Given the description of an element on the screen output the (x, y) to click on. 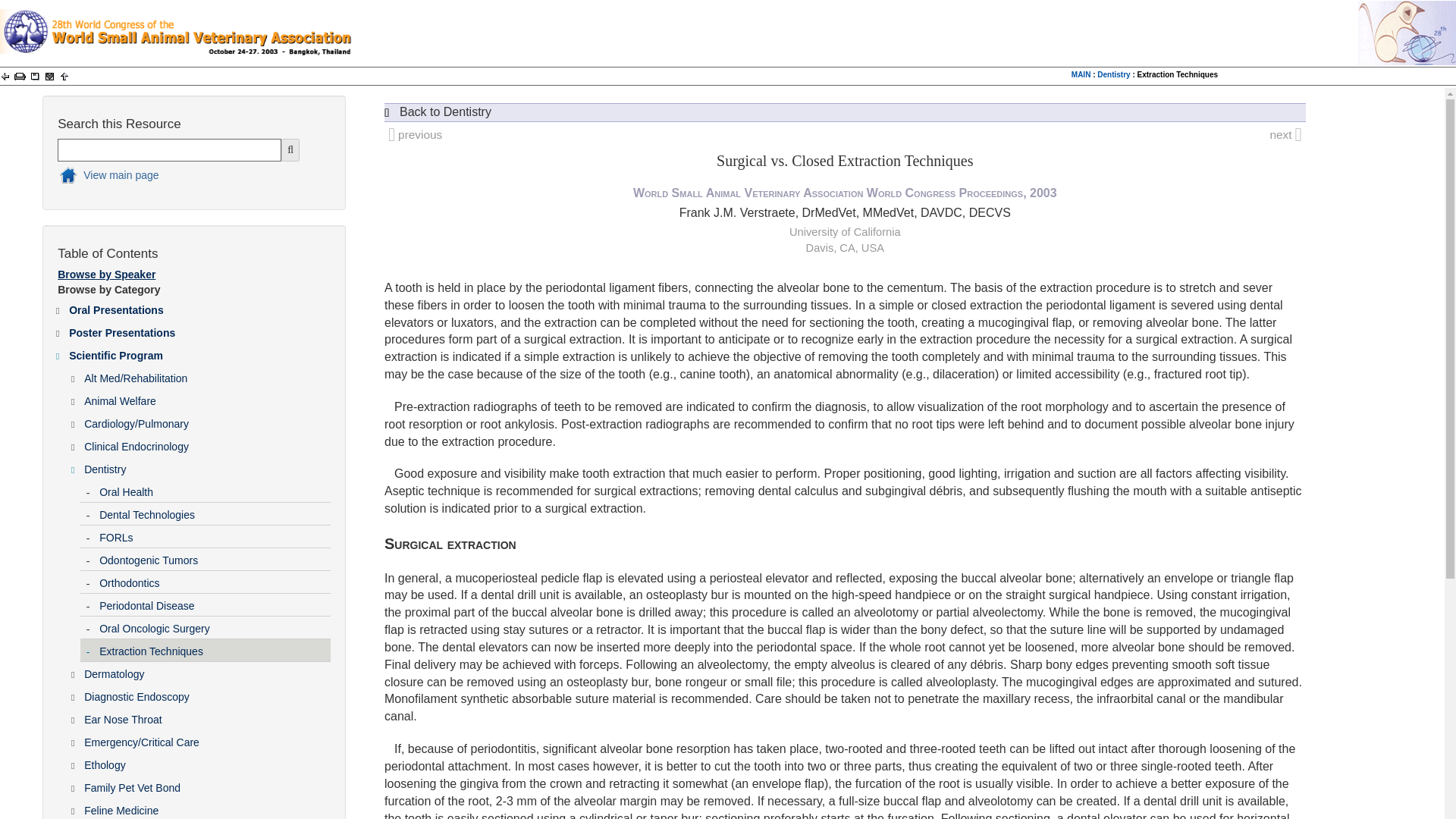
Dentistry (1113, 74)
View main page (180, 177)
Scientific Program (198, 352)
Home (180, 177)
Browse by Speaker (106, 274)
Poster Presentations (198, 330)
Oral Presentations (198, 307)
MAIN (1080, 74)
